Given the description of an element on the screen output the (x, y) to click on. 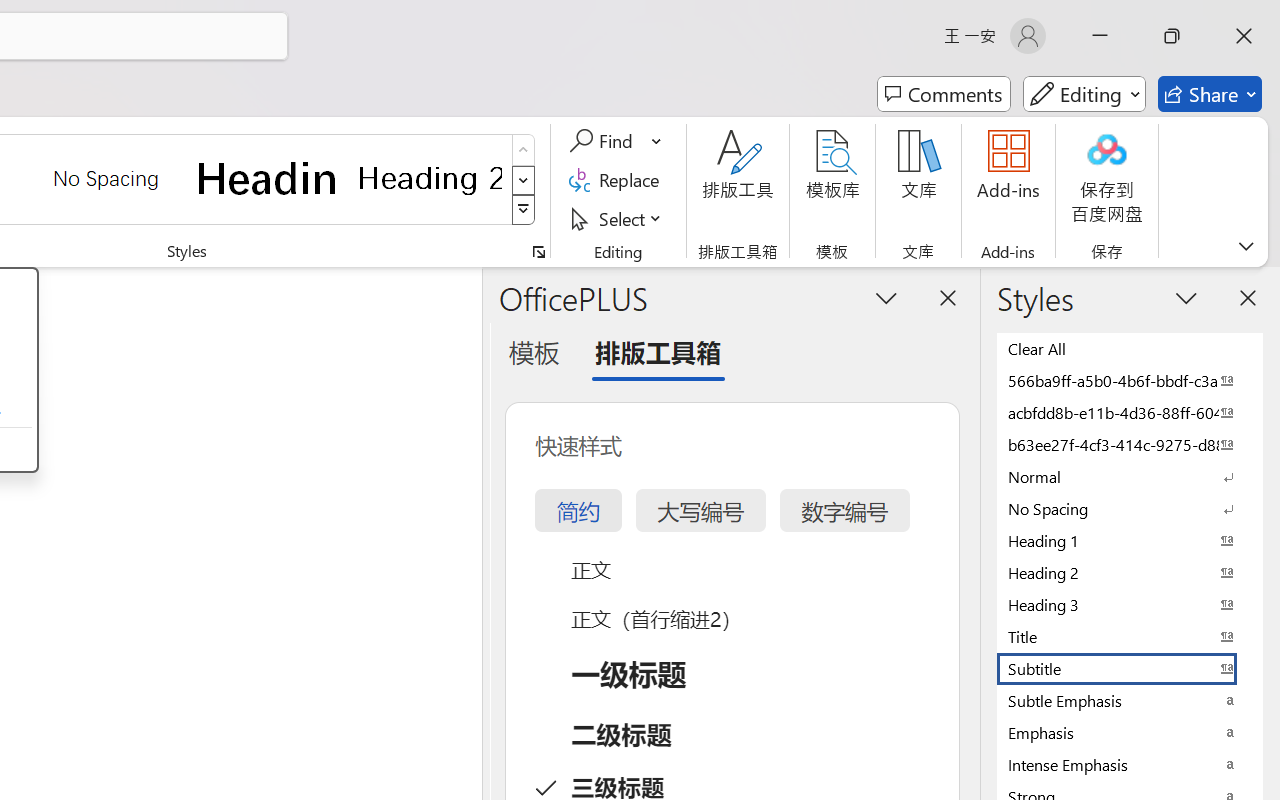
acbfdd8b-e11b-4d36-88ff-6049b138f862 (1130, 412)
Class: NetUIImage (523, 210)
Find (604, 141)
Select (618, 218)
Subtle Emphasis (1130, 700)
Heading 3 (1130, 604)
Normal (1130, 476)
Comments (943, 94)
566ba9ff-a5b0-4b6f-bbdf-c3ab41993fc2 (1130, 380)
